Given the description of an element on the screen output the (x, y) to click on. 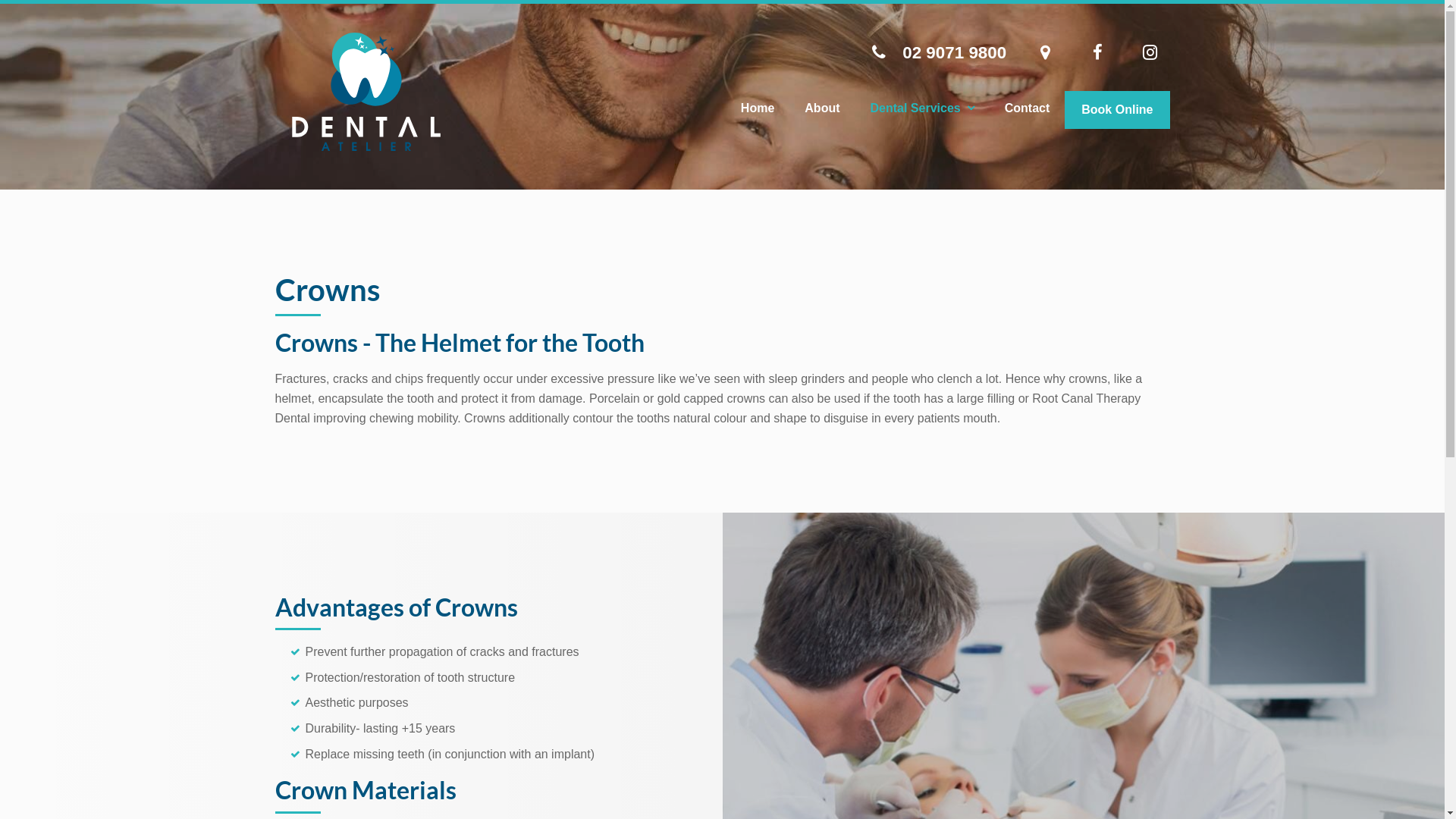
Home Element type: text (757, 108)
Dental Services Element type: text (922, 108)
Contact Element type: text (1027, 108)
Book Online Element type: text (1116, 109)
About Element type: text (821, 108)
